Given the description of an element on the screen output the (x, y) to click on. 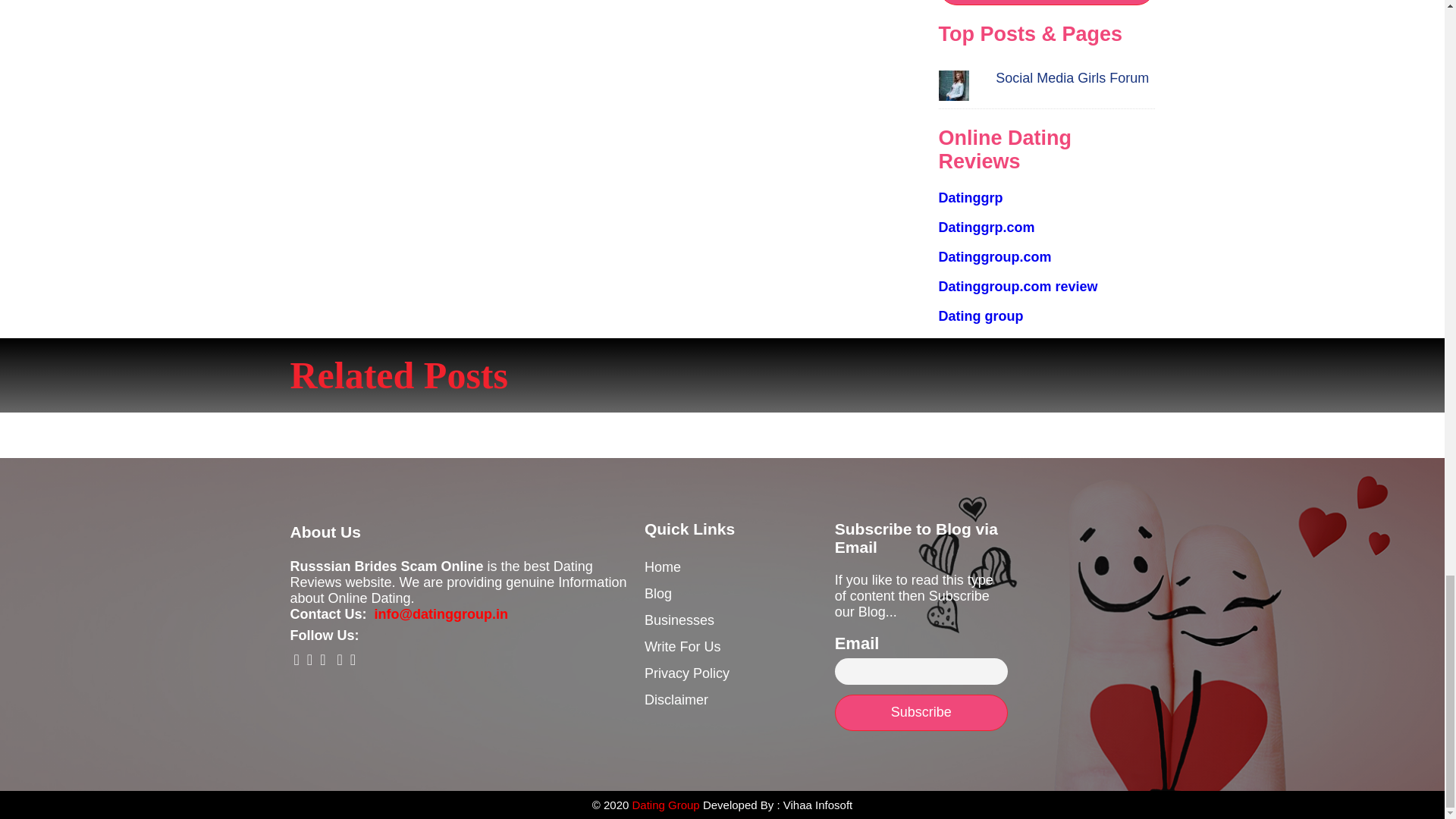
Datinggrp.com (987, 227)
Subscribe (920, 712)
Datinggroup.com (995, 256)
Datinggrp (971, 197)
Dating group (981, 315)
Subscribe (1046, 2)
Subscribe (1046, 2)
Social Media Girls Forum (1071, 77)
Datinggroup.com review (1018, 286)
Social Media Girls Forum (1071, 77)
